Given the description of an element on the screen output the (x, y) to click on. 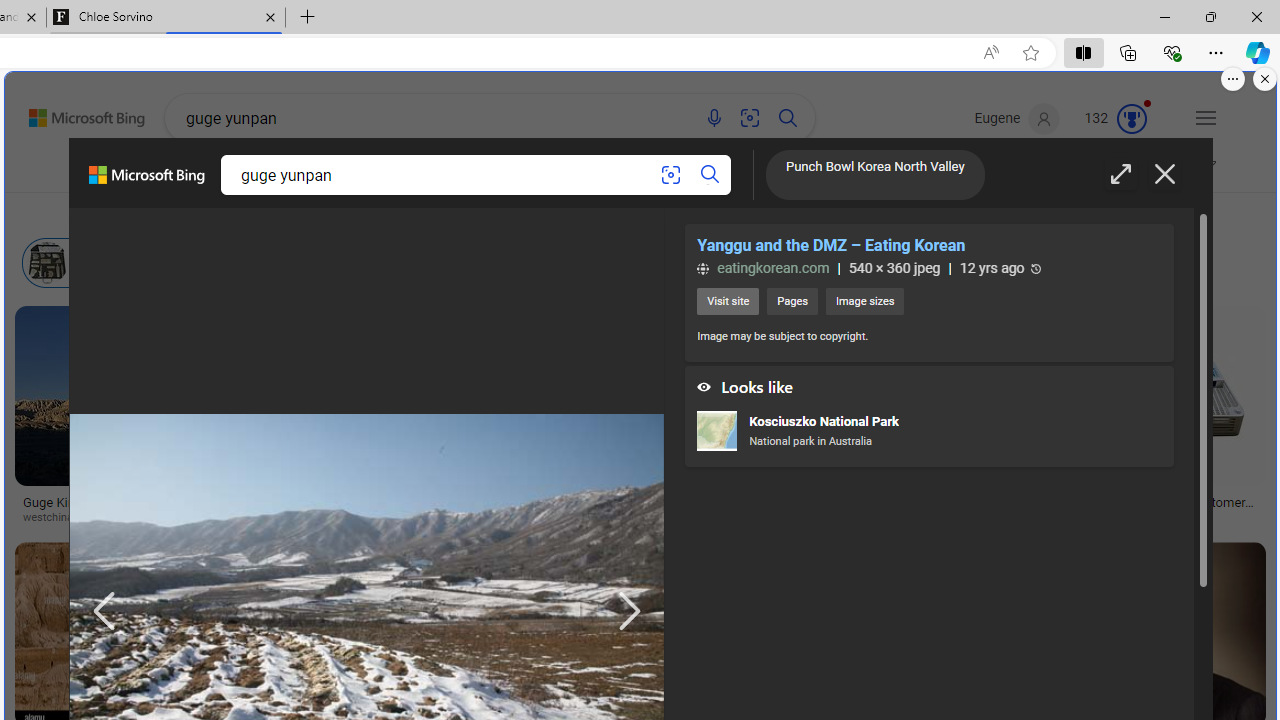
yunpantelecom.com (1183, 517)
NEWS (801, 170)
Date (590, 213)
Visit site (727, 302)
istockphoto.com (535, 517)
Pages (791, 302)
Search using voice (714, 117)
Eugene (1017, 119)
NEWS (801, 173)
